Given the description of an element on the screen output the (x, y) to click on. 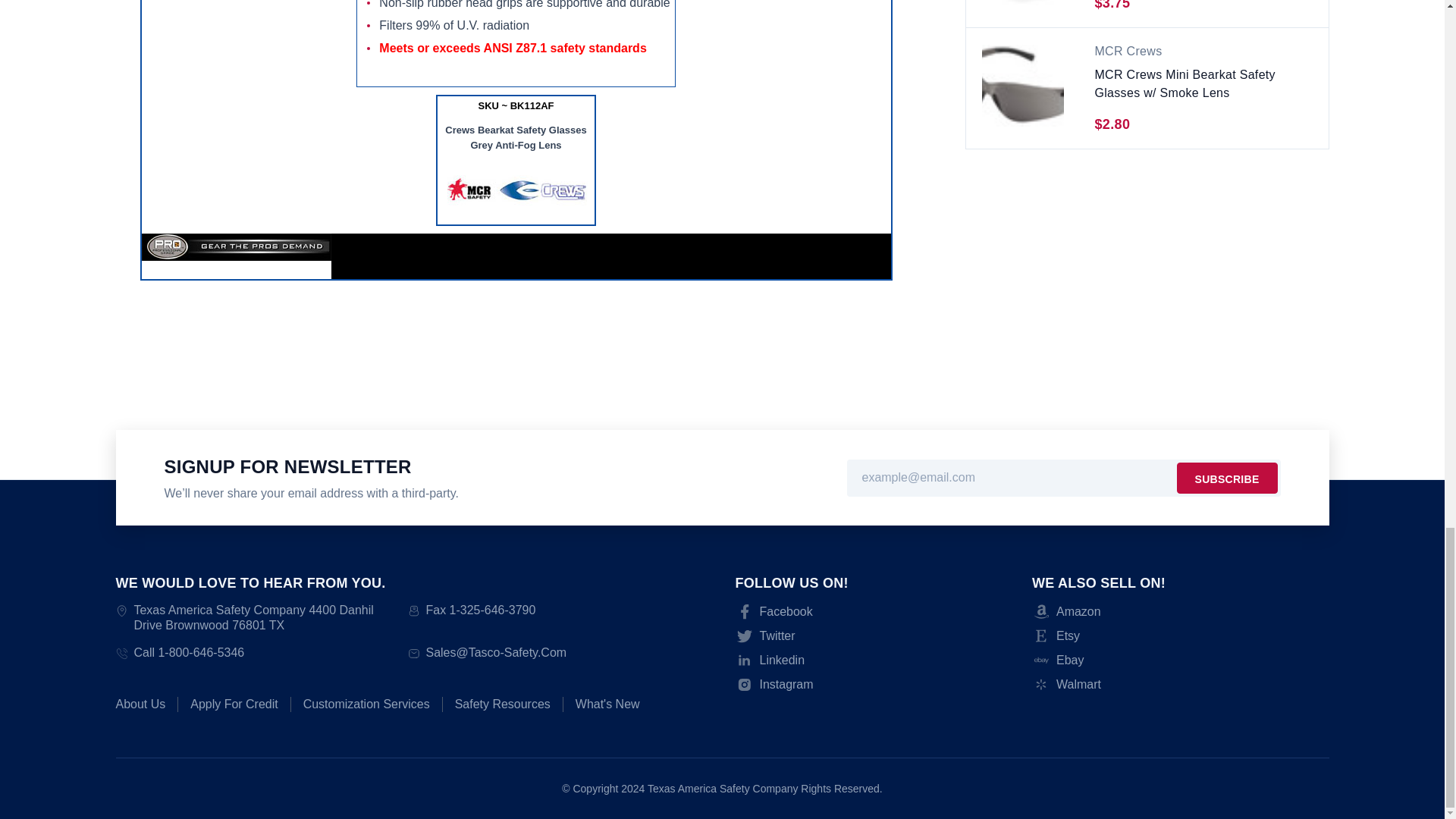
Subscribe (1227, 477)
